Given the description of an element on the screen output the (x, y) to click on. 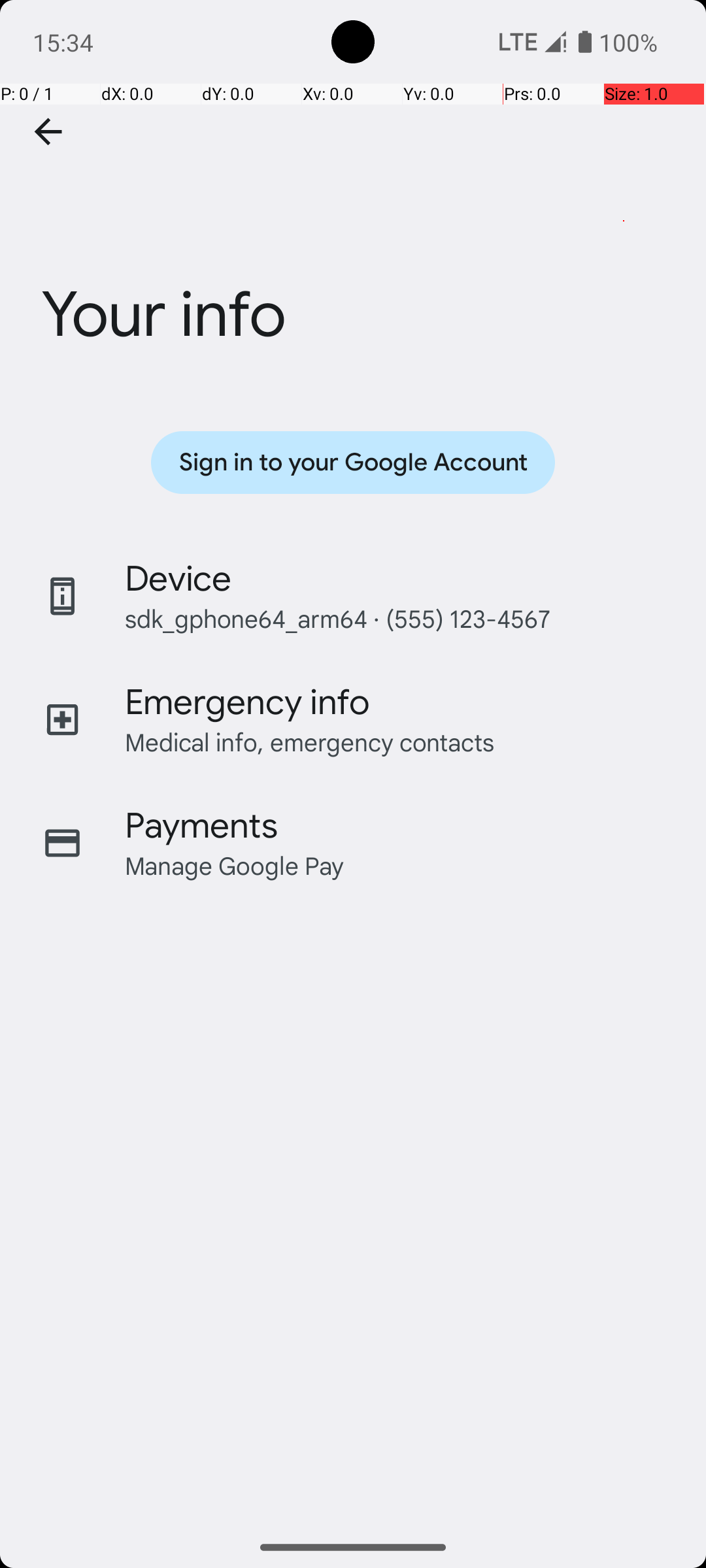
Sign in to your Google Account Element type: android.widget.Button (352, 462)
sdk_gphone64_arm64 · (555) 123-4567 Element type: android.widget.TextView (337, 618)
Emergency info Element type: android.widget.TextView (246, 702)
Medical info, emergency contacts Element type: android.widget.TextView (309, 741)
Payments Element type: android.widget.TextView (200, 825)
Manage Google Pay Element type: android.widget.TextView (234, 865)
